Given the description of an element on the screen output the (x, y) to click on. 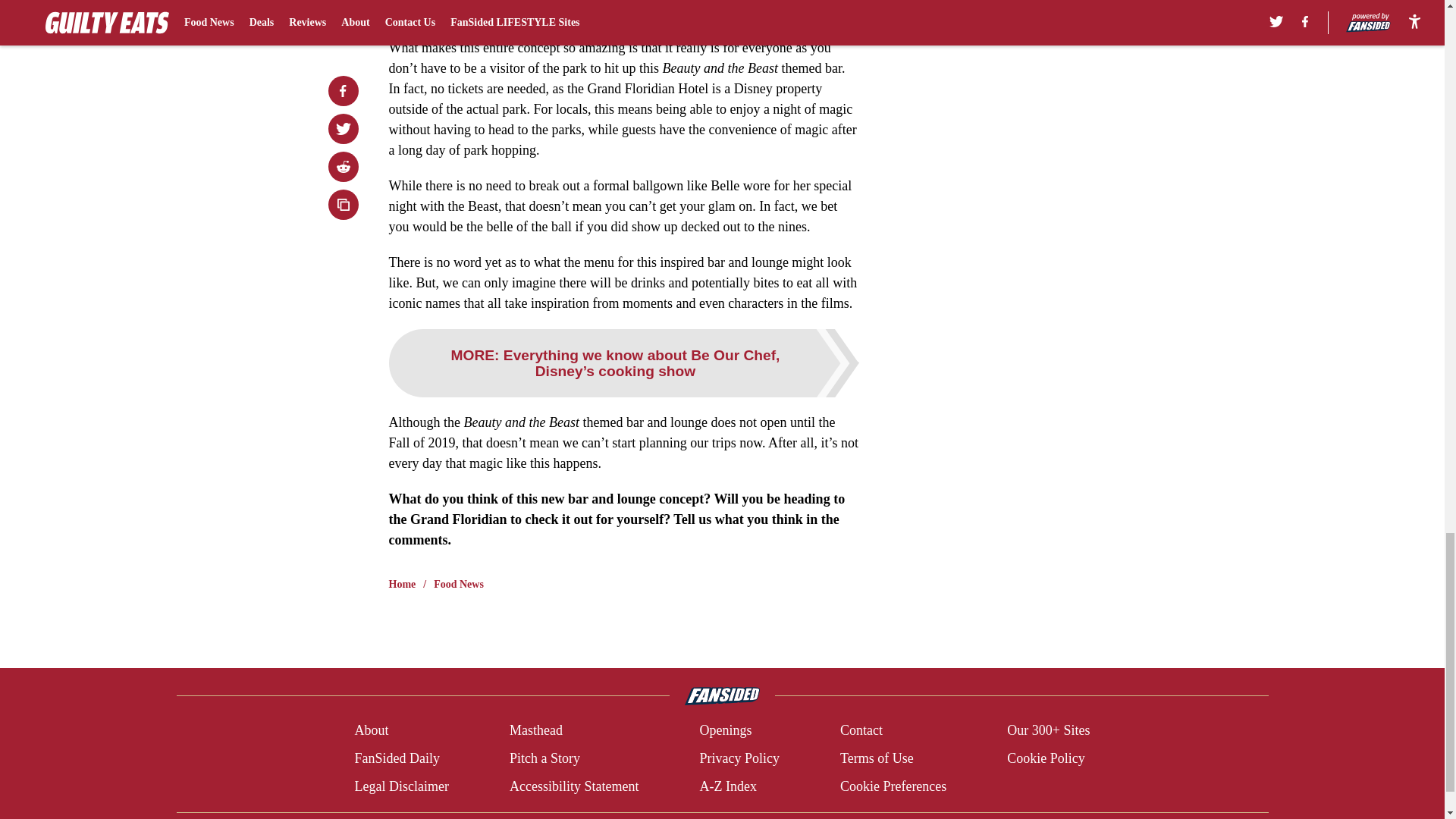
Pitch a Story (544, 758)
Legal Disclaimer (400, 786)
Terms of Use (877, 758)
Masthead (535, 730)
Contact (861, 730)
Food News (458, 584)
About (370, 730)
Home (401, 584)
Accessibility Statement (574, 786)
Privacy Policy (738, 758)
FanSided Daily (396, 758)
Cookie Policy (1045, 758)
Openings (724, 730)
